Given the description of an element on the screen output the (x, y) to click on. 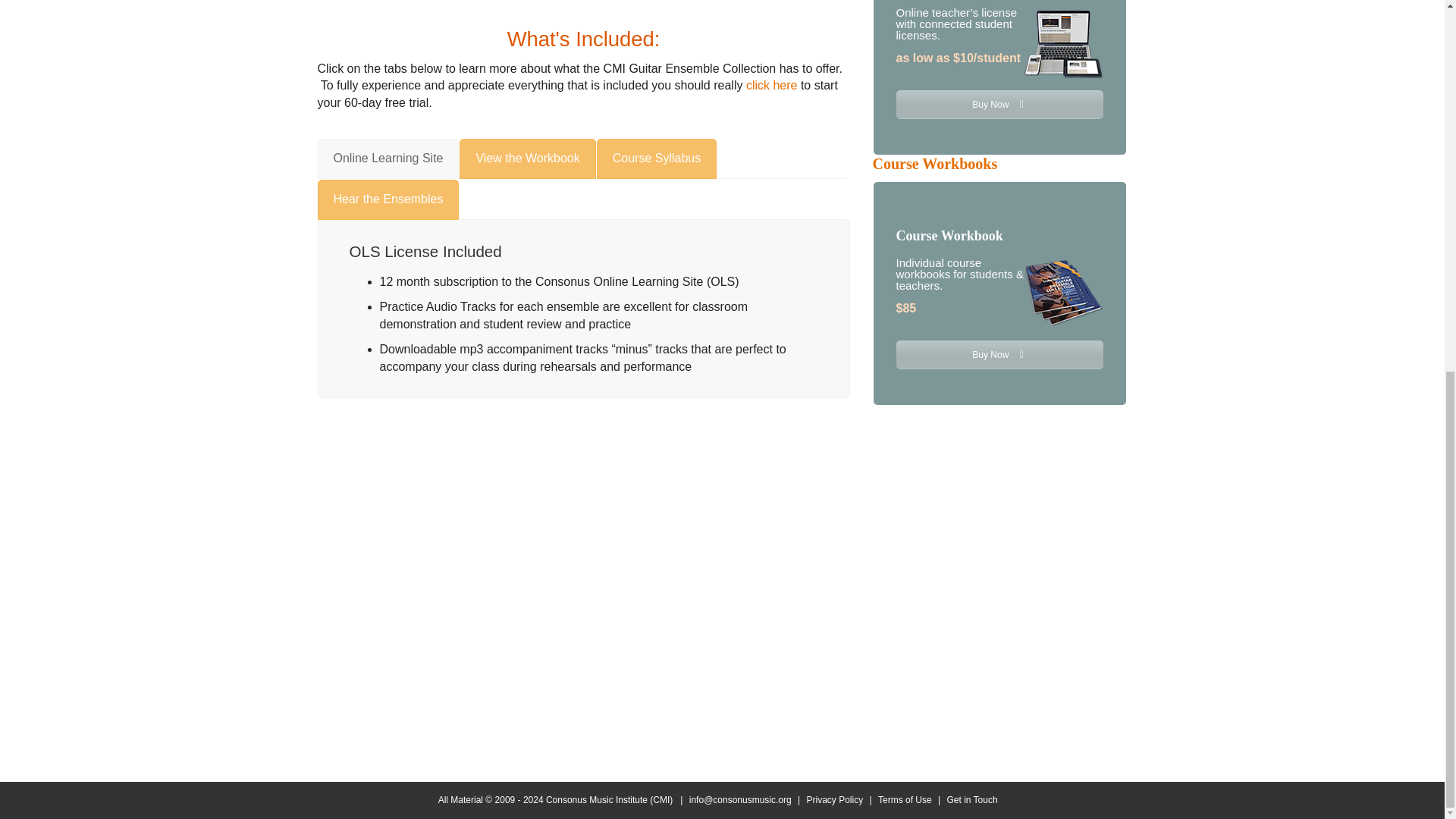
View the Workbook (527, 158)
Course Syllabus (656, 158)
Online Learning Site (387, 158)
click here (771, 84)
Hear the Ensembles (387, 199)
